Given the description of an element on the screen output the (x, y) to click on. 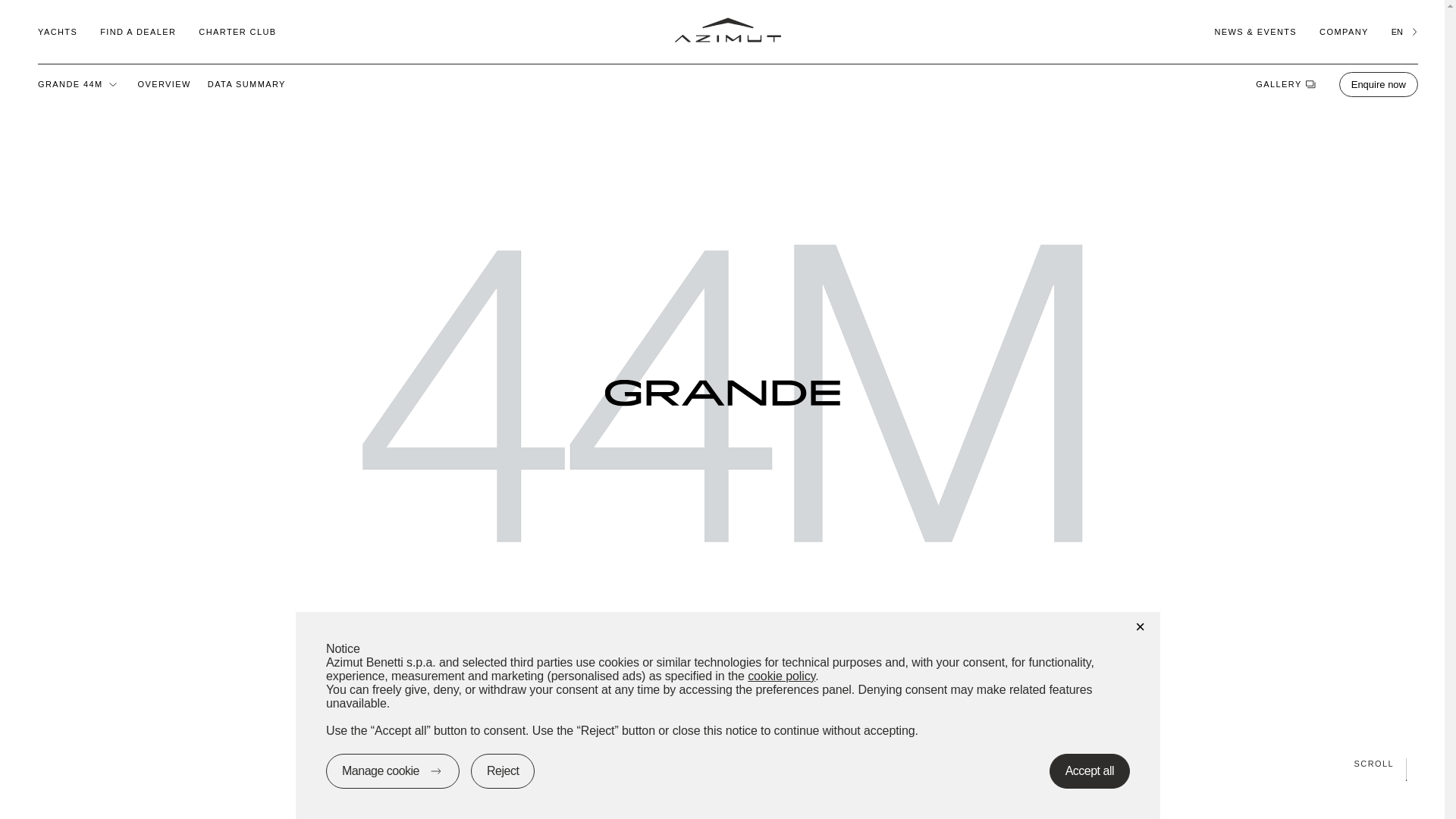
SCROLL (722, 763)
CHARTER CLUB (237, 31)
DATA SUMMARY (246, 83)
COMPANY (1343, 31)
FIND A DEALER (138, 31)
OVERVIEW (164, 83)
Enquire now (1378, 83)
YACHTS (57, 31)
EN (1404, 31)
